Given the description of an element on the screen output the (x, y) to click on. 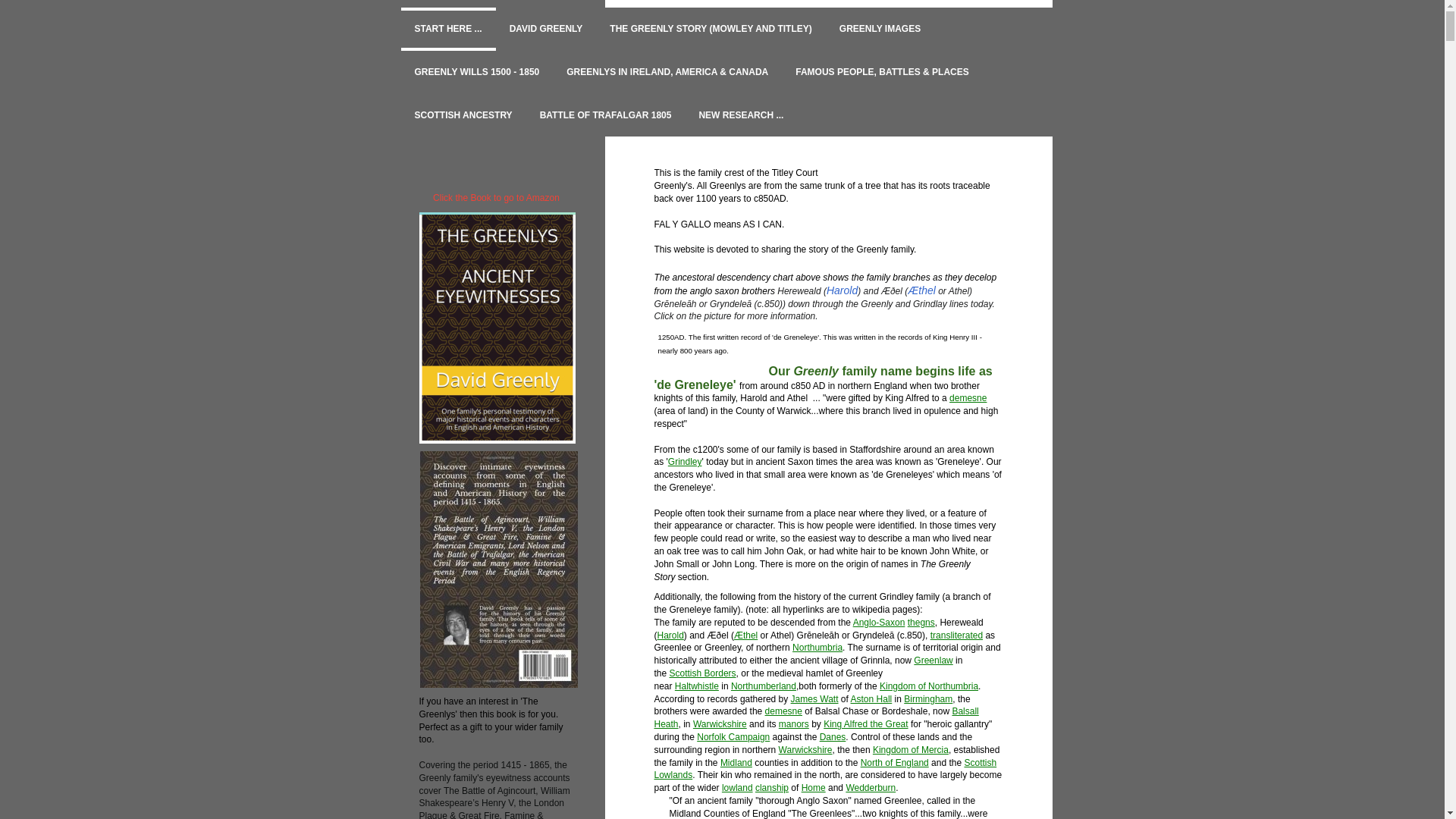
NEW RESEARCH ... (740, 115)
SCOTTISH ANCESTRY (462, 115)
BATTLE OF TRAFALGAR 1805 (605, 115)
GREENLY WILLS 1500 - 1850 (476, 72)
DAVID GREENLY (546, 28)
START HERE ... (447, 28)
GREENLY IMAGES (879, 28)
